Given the description of an element on the screen output the (x, y) to click on. 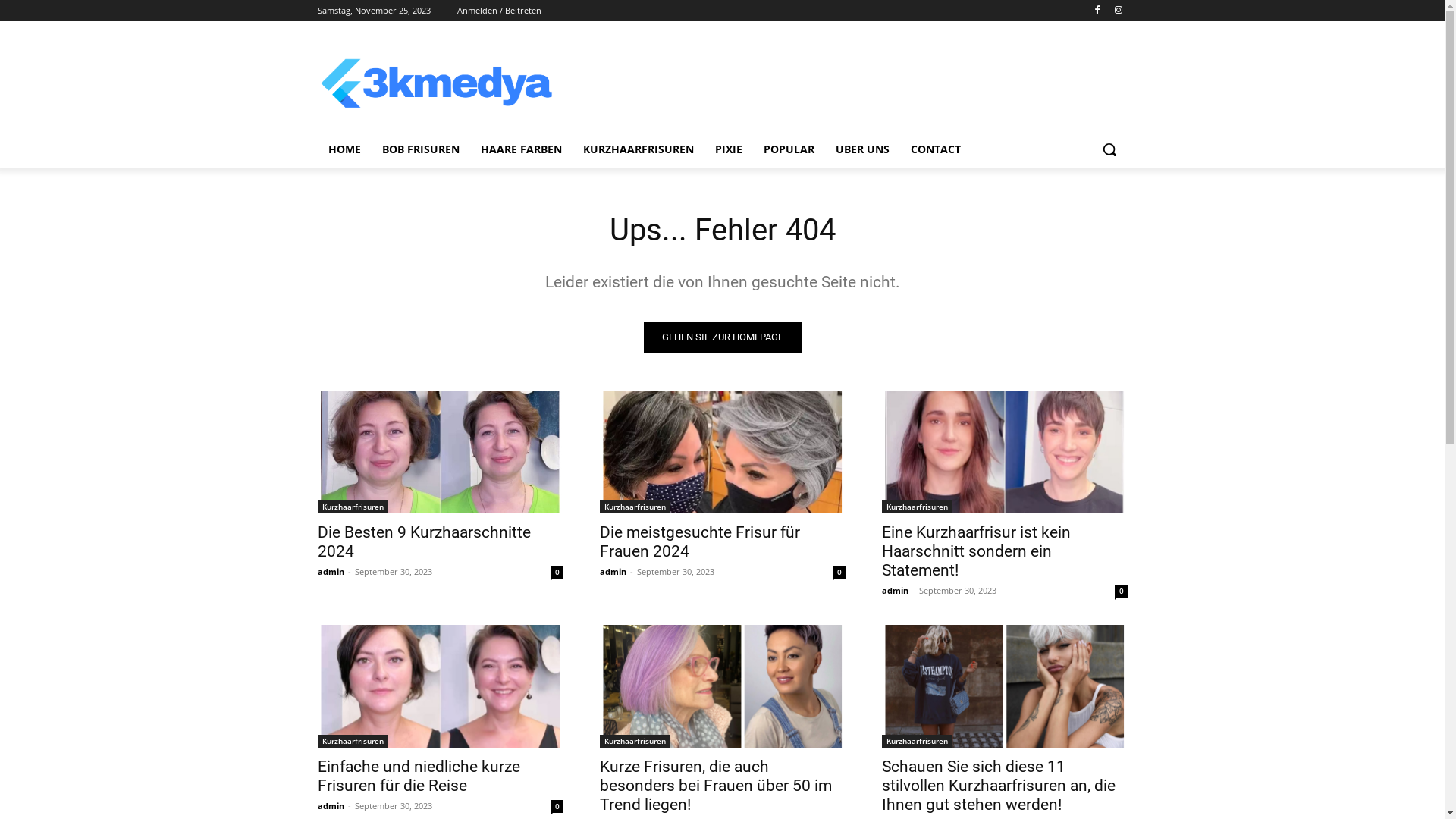
Kurzhaarfrisuren Element type: text (351, 506)
Anmelden / Beitreten Element type: text (498, 10)
BOB FRISUREN Element type: text (420, 149)
Kurzhaarfrisuren Element type: text (351, 740)
Die Besten 9 Kurzhaarschnitte 2024 Element type: text (423, 541)
0 Element type: text (1120, 590)
admin Element type: text (612, 571)
Advertisement Element type: hover (843, 81)
Kurzhaarfrisuren Element type: text (916, 740)
0 Element type: text (556, 571)
admin Element type: text (329, 571)
0 Element type: text (556, 806)
Instagram Element type: hover (1118, 9)
0 Element type: text (838, 571)
GEHEN SIE ZUR HOMEPAGE Element type: text (721, 336)
admin Element type: text (894, 590)
POPULAR Element type: text (788, 149)
CONTACT Element type: text (934, 149)
UBER UNS Element type: text (862, 149)
Kurzhaarfrisuren Element type: text (634, 740)
Kurzhaarfrisuren Element type: text (916, 506)
KURZHAARFRISUREN Element type: text (637, 149)
Facebook Element type: hover (1097, 9)
Kurzhaarfrisuren Element type: text (634, 506)
Die Besten 9 Kurzhaarschnitte 2024 Element type: hover (439, 451)
HAARE FARBEN Element type: text (521, 149)
HOME Element type: text (343, 149)
PIXIE Element type: text (727, 149)
admin Element type: text (329, 805)
